Given the description of an element on the screen output the (x, y) to click on. 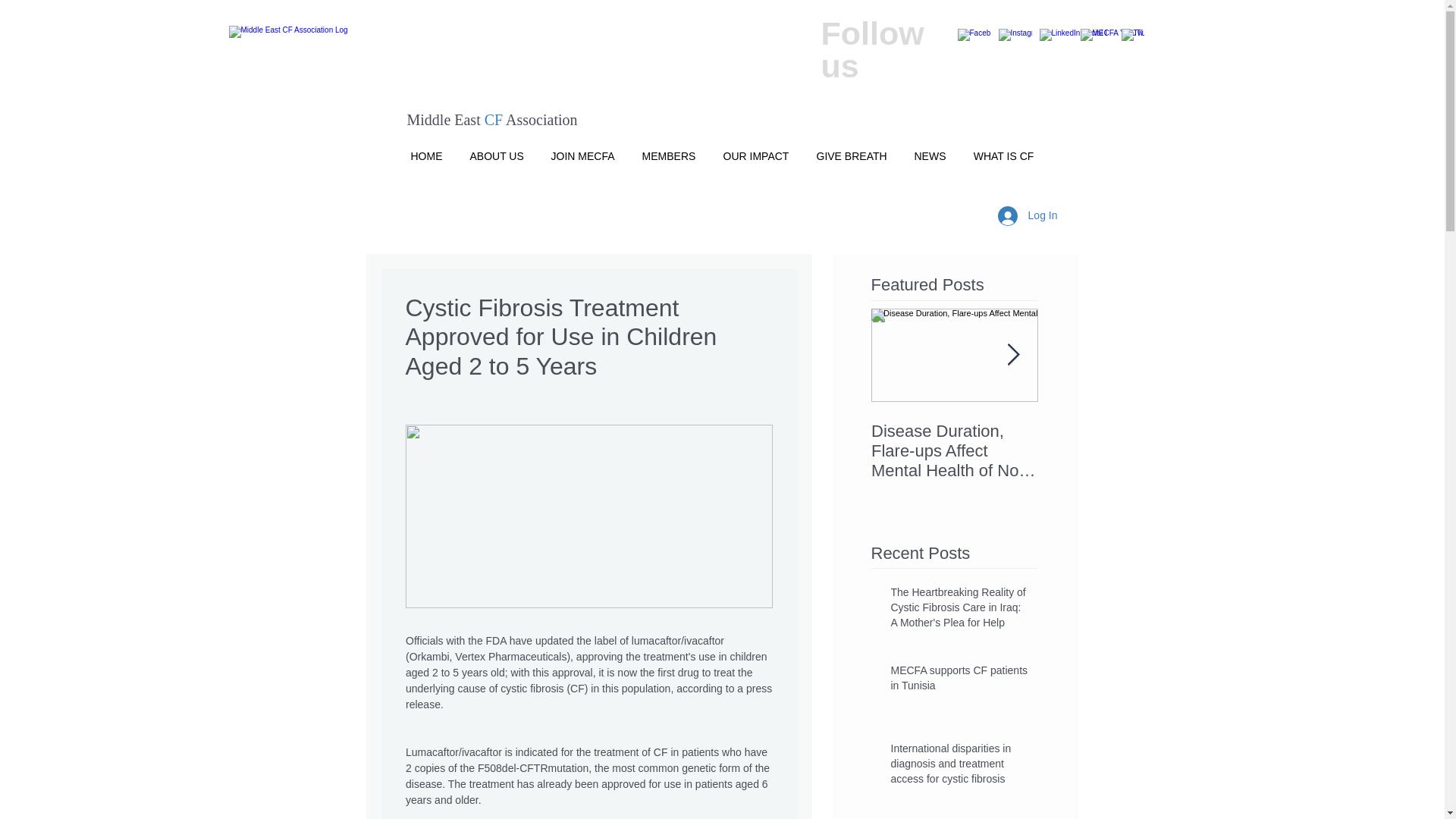
Log In (1027, 215)
MEMBERS (668, 149)
OUR IMPACT (756, 149)
HOME (427, 149)
GIVE BREATH (850, 149)
ABOUT US (497, 149)
WHAT IS CF (1003, 149)
JOIN MECFA (582, 149)
NEWS (930, 149)
